Given the description of an element on the screen output the (x, y) to click on. 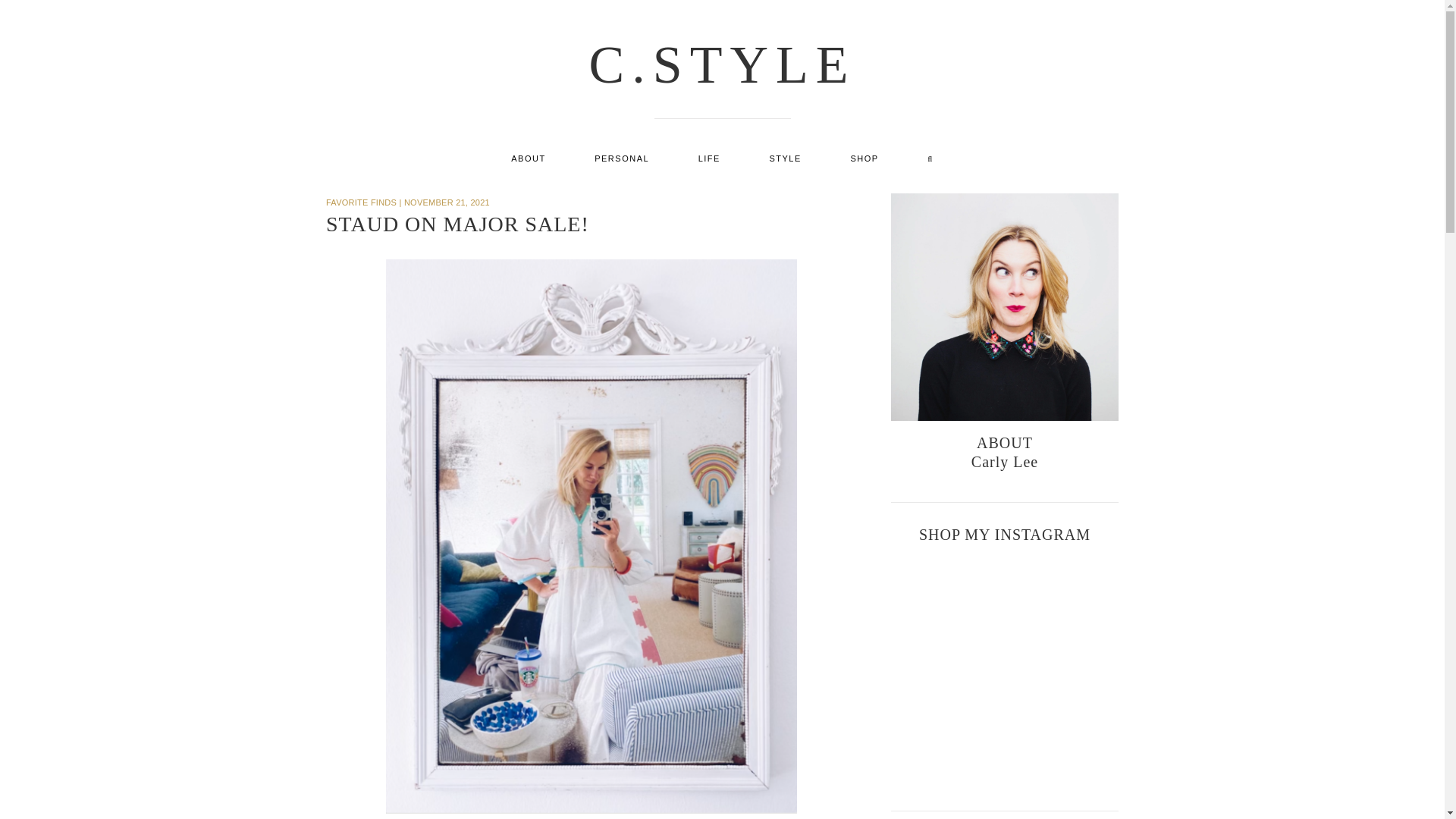
STYLE (784, 158)
C.STYLE (722, 64)
PERSONAL (621, 158)
STAUD ON MAJOR SALE! (457, 223)
FAVORITE FINDS (361, 201)
LIFE (708, 158)
SHOP (864, 158)
ABOUT (527, 158)
